Given the description of an element on the screen output the (x, y) to click on. 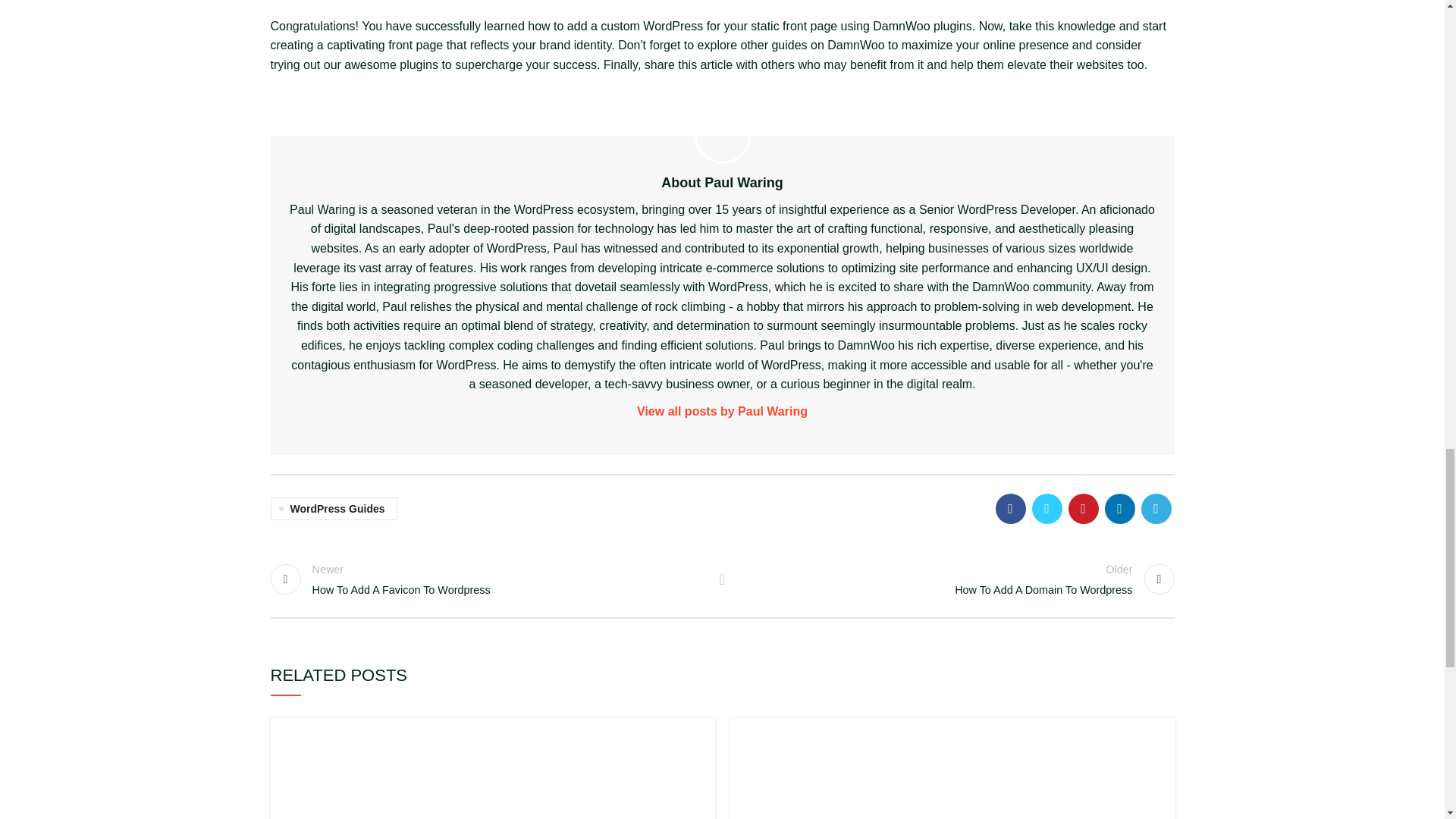
Back to list (721, 579)
View all posts by Paul Waring (955, 579)
WordPress Guides (488, 579)
WordPress How To Change Link Color (722, 411)
WordPress How To Change Owner Of Site (332, 508)
